Given the description of an element on the screen output the (x, y) to click on. 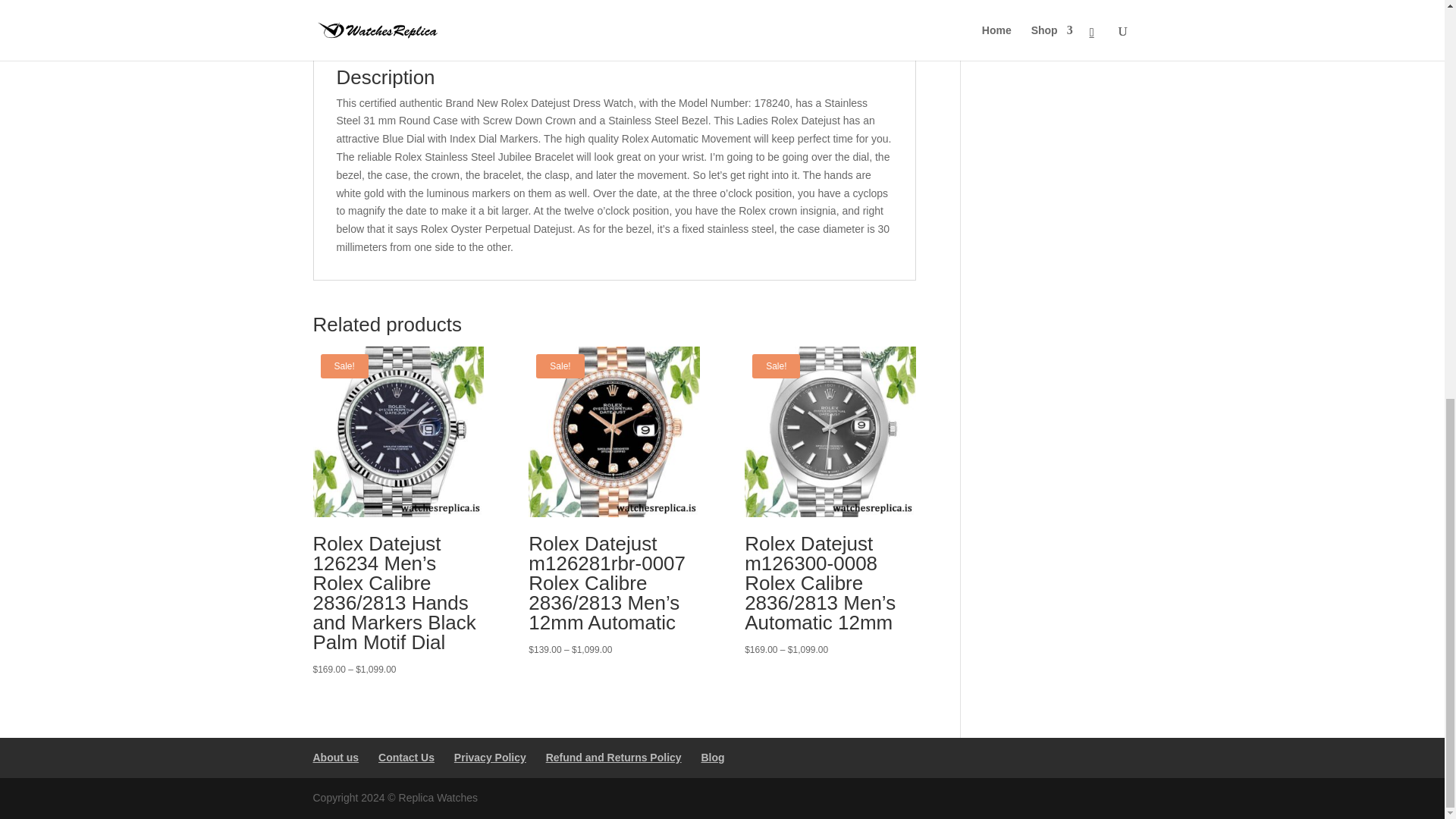
Description (358, 31)
Additional information (477, 31)
